Given the description of an element on the screen output the (x, y) to click on. 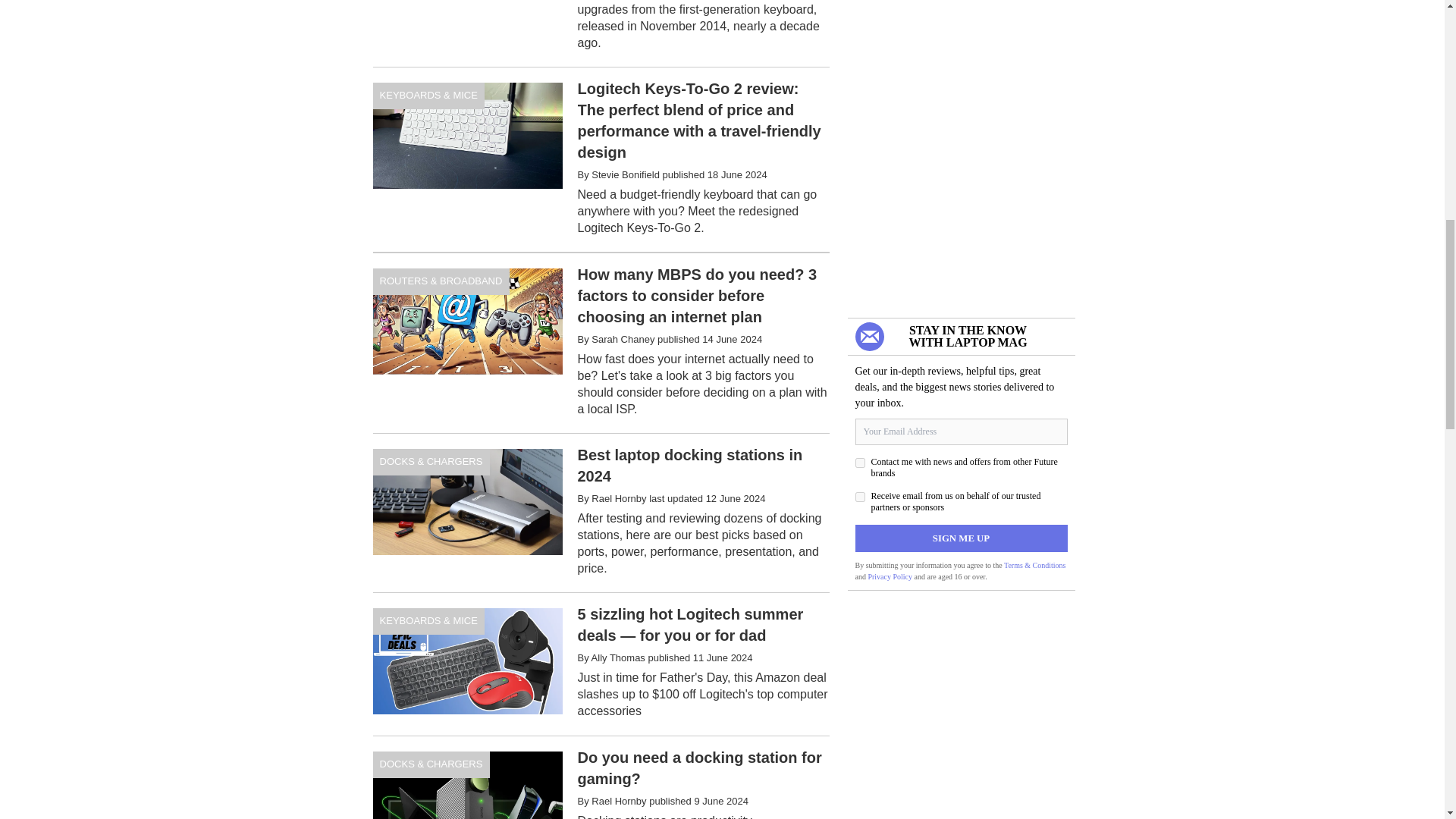
Sign me up (961, 538)
